Given the description of an element on the screen output the (x, y) to click on. 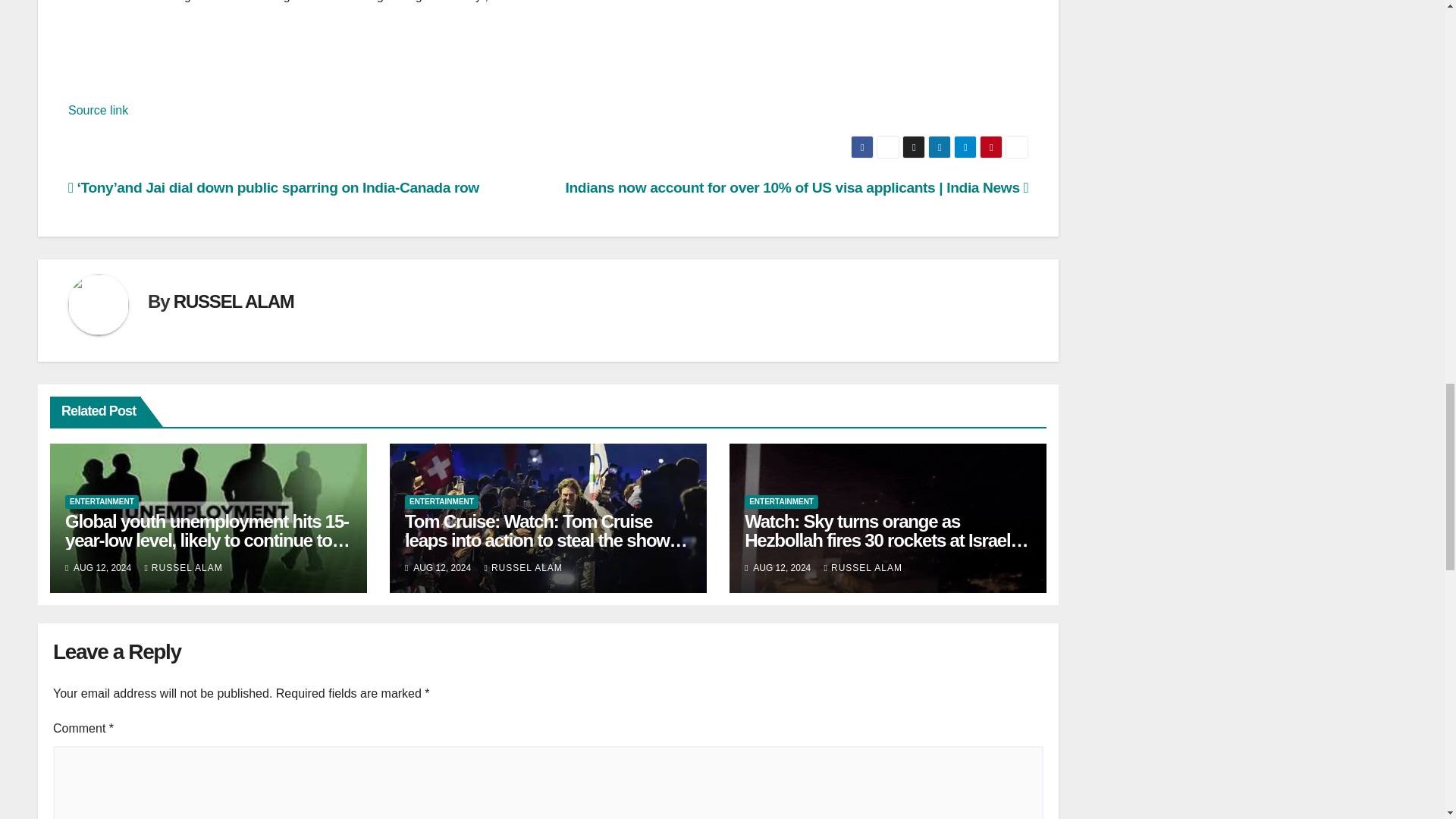
Source link (98, 110)
